Given the description of an element on the screen output the (x, y) to click on. 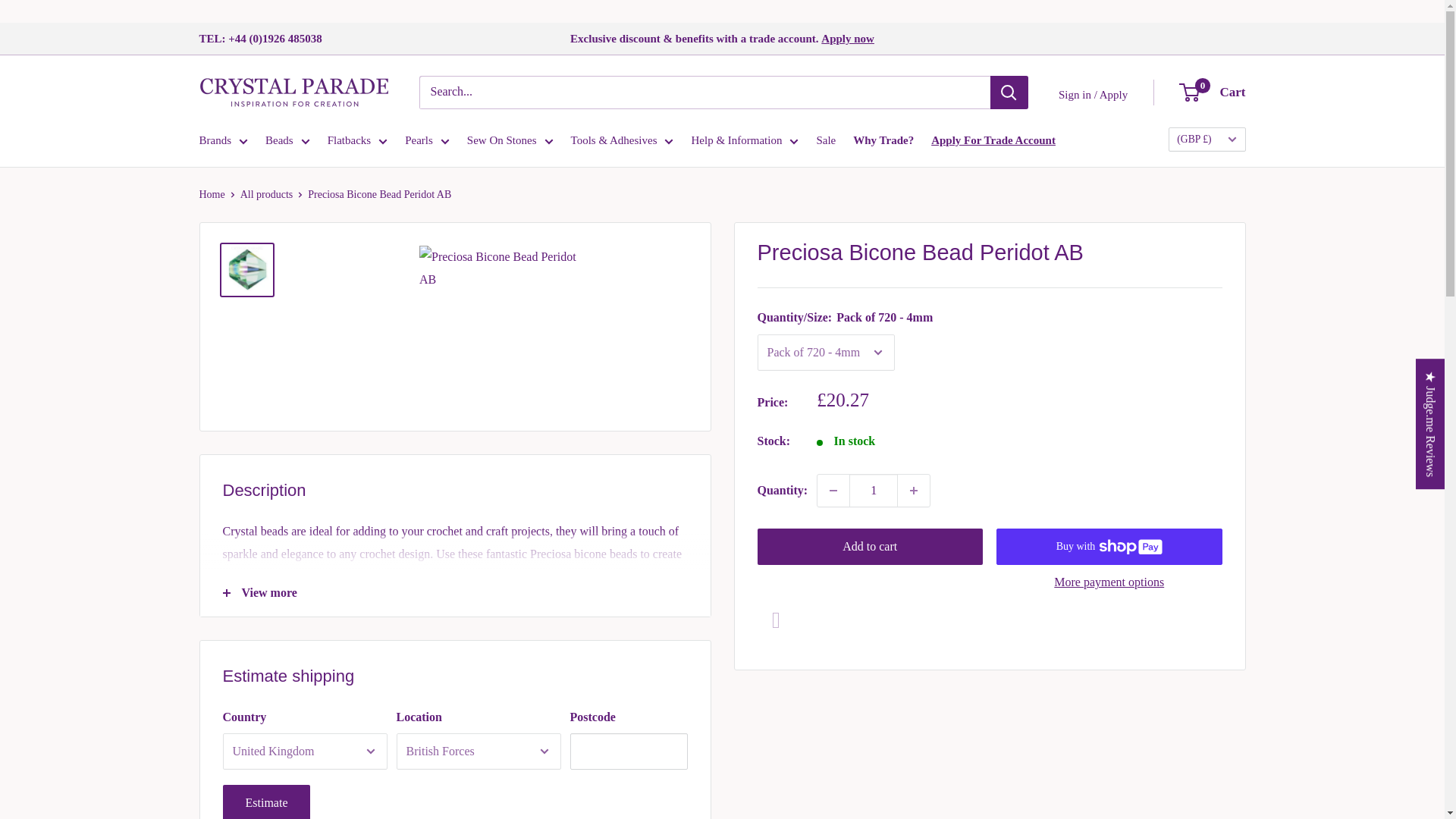
1 (873, 490)
Apply now (848, 38)
Decrease quantity by 1 (832, 490)
Increase quantity by 1 (914, 490)
